Given the description of an element on the screen output the (x, y) to click on. 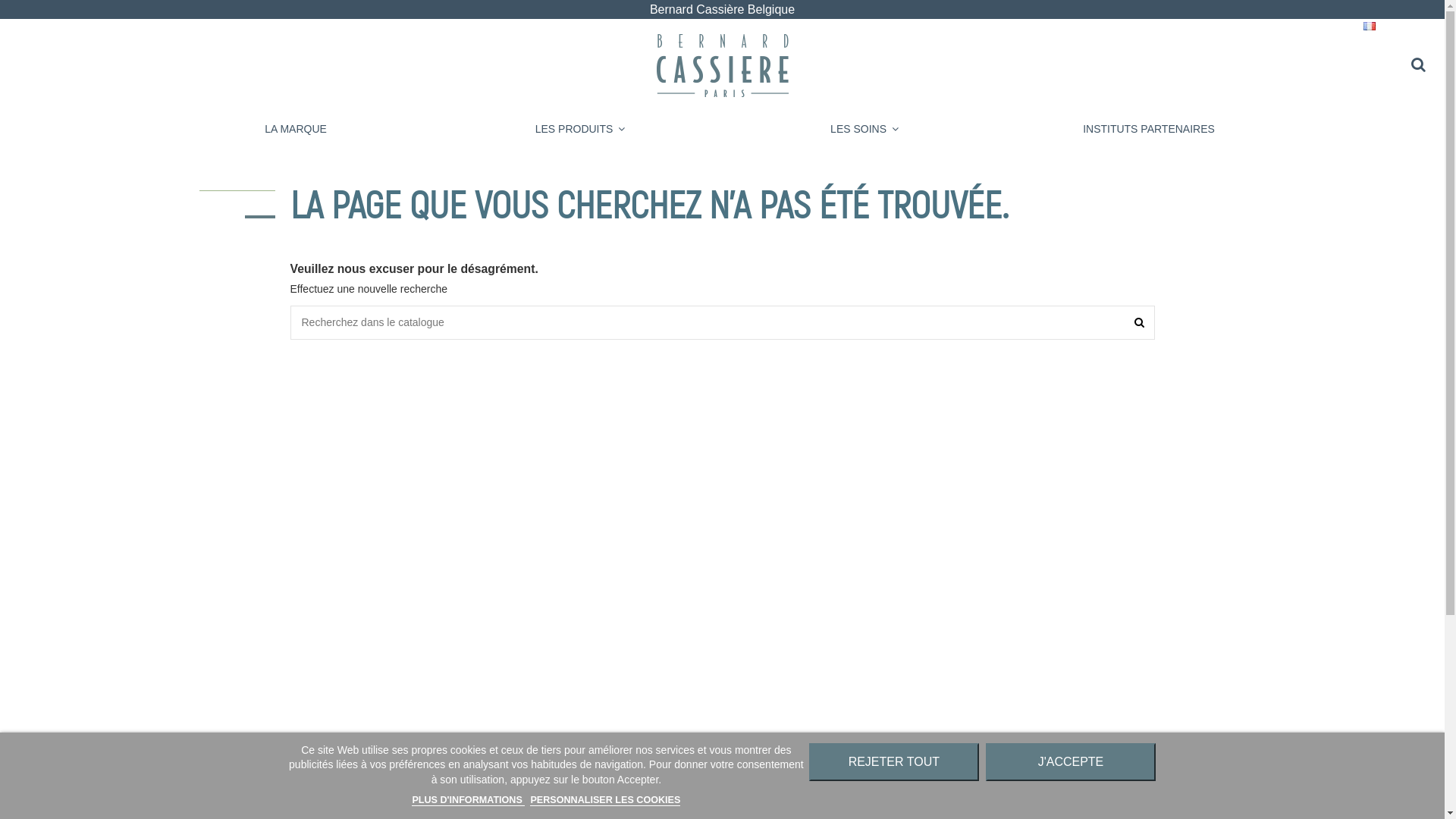
LES PRODUITS Element type: text (580, 129)
REJETER TOUT Element type: text (894, 762)
INSTITUTS PARTENAIRES Element type: text (1149, 129)
LES SOINS Element type: text (863, 129)
PERSONNALISER LES COOKIES Element type: text (605, 800)
J'ACCEPTE Element type: text (1070, 762)
LA MARQUE Element type: text (295, 129)
PLUS D'INFORMATIONS Element type: text (467, 800)
